Given the description of an element on the screen output the (x, y) to click on. 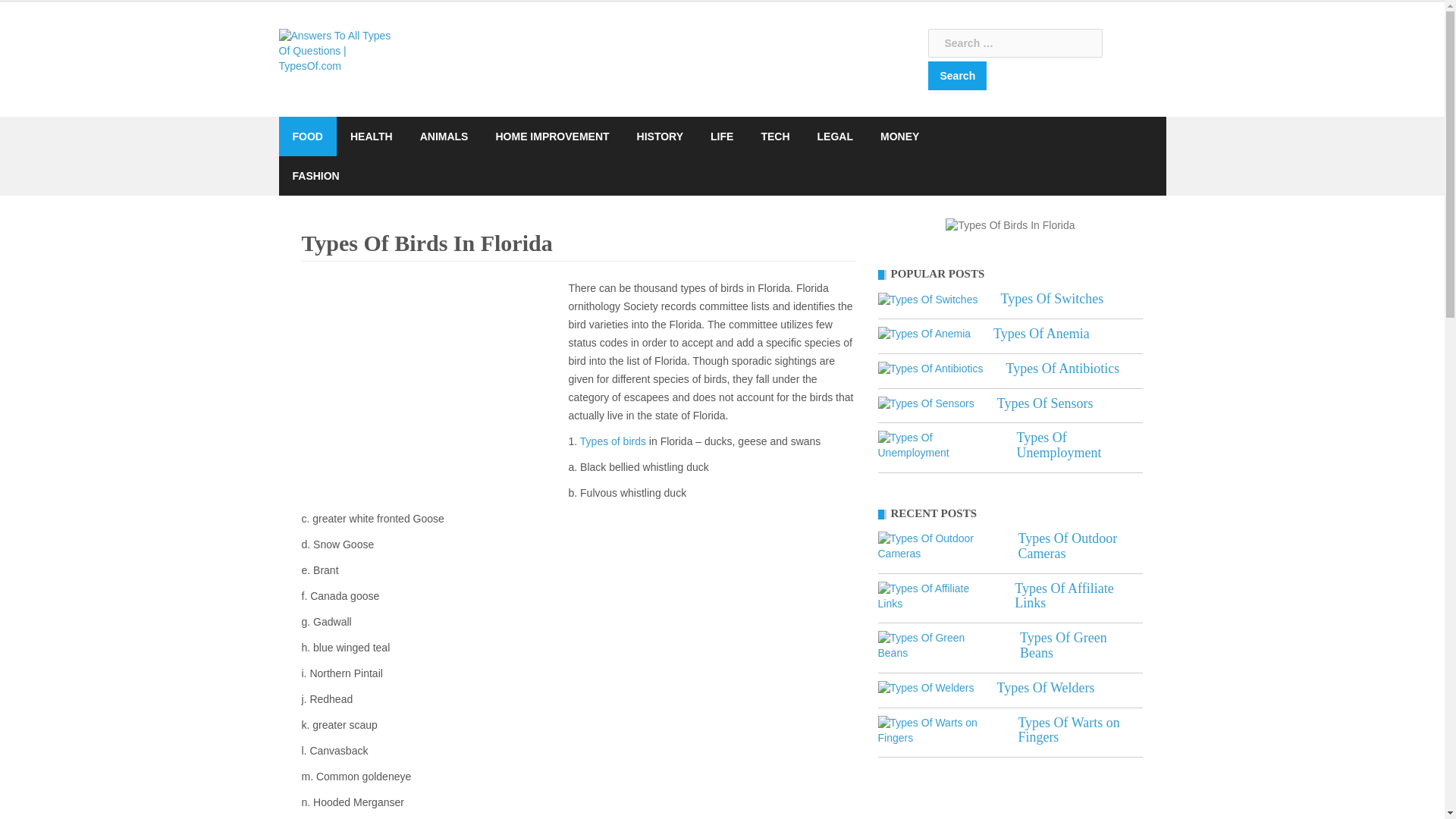
Types Of Antibiotics (930, 368)
Types Of Unemployment (1059, 444)
Types Of Outdoor Cameras (936, 546)
Search (957, 75)
Types of birds (612, 440)
Types Of Affiliate Links (934, 596)
HOME IMPROVEMENT (551, 136)
HISTORY (659, 136)
Search (957, 75)
Types Of Unemployment (935, 445)
